Given the description of an element on the screen output the (x, y) to click on. 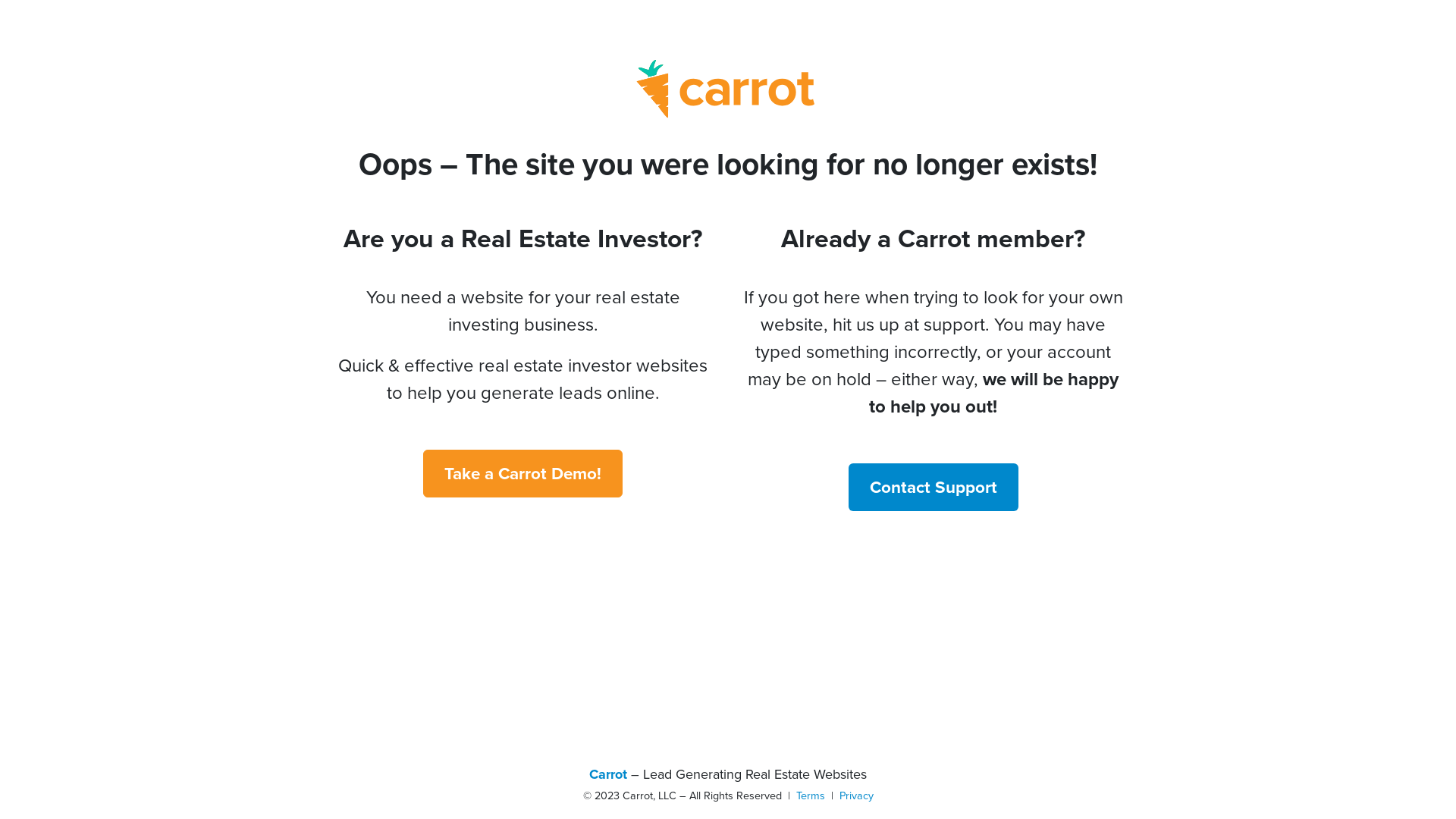
Contact Support Element type: text (932, 487)
Take a Carrot Demo! Element type: text (522, 473)
Terms Element type: text (810, 795)
Carrot Element type: text (608, 774)
Privacy Element type: text (855, 795)
